Given the description of an element on the screen output the (x, y) to click on. 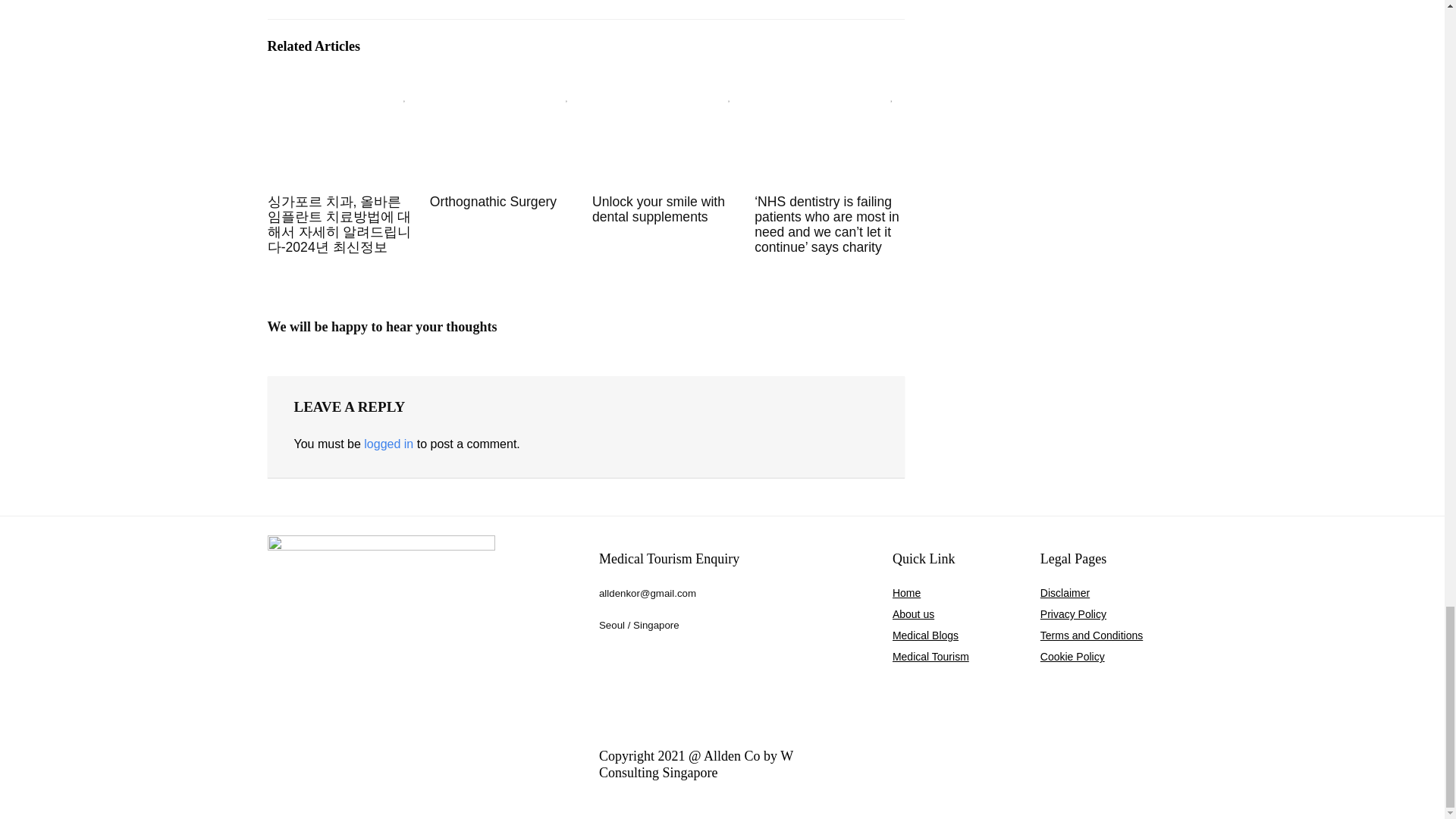
Orthognathic Surgery (492, 201)
Unlock your smile with dental supplements (658, 209)
logged in (388, 443)
Home (906, 592)
